Given the description of an element on the screen output the (x, y) to click on. 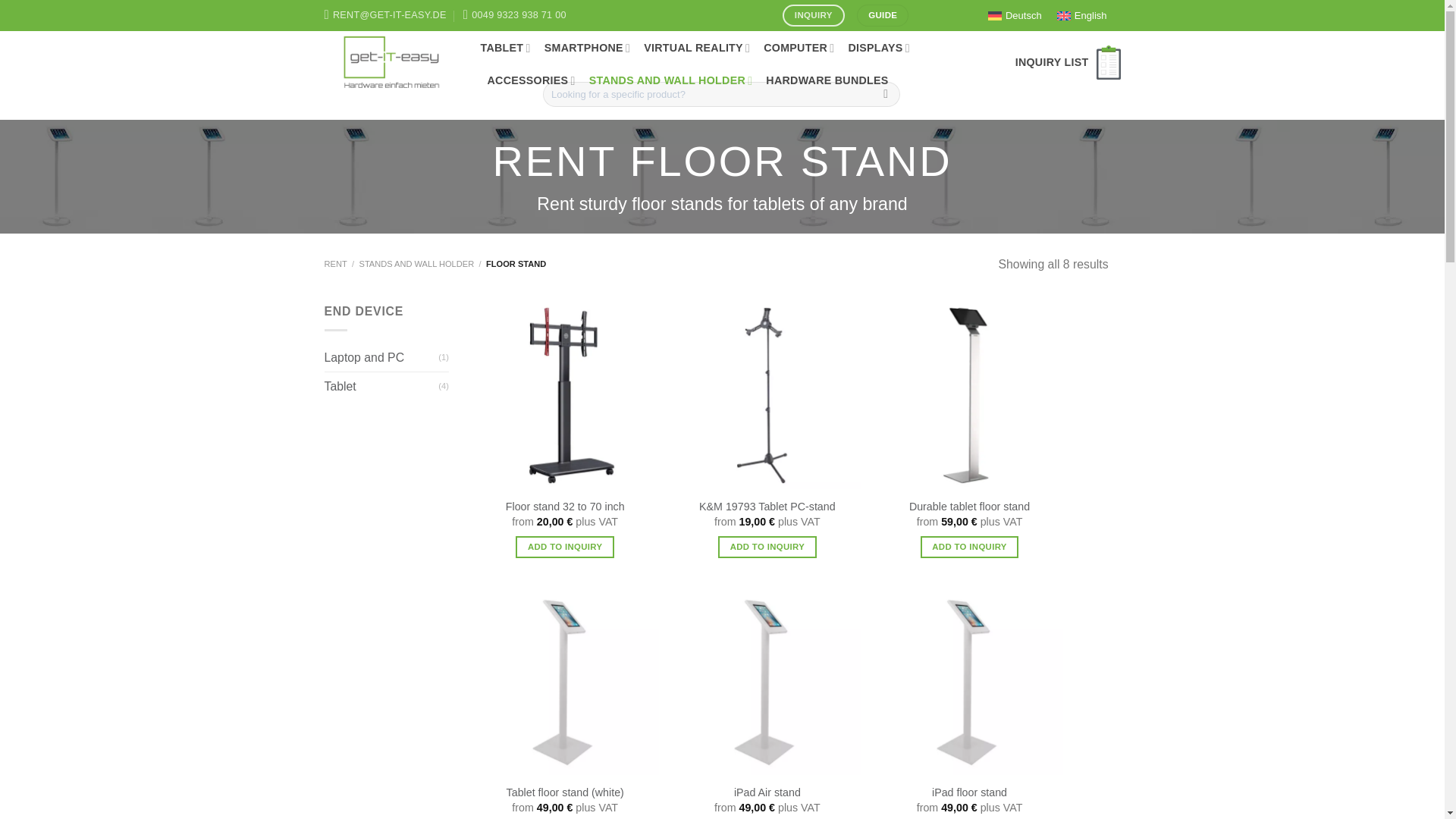
INQUIRY (813, 15)
TABLET (505, 47)
Inquiry list (1067, 62)
SMARTPHONE (587, 47)
GUIDE (882, 15)
VIRTUAL REALITY (696, 47)
Deutsch (1014, 15)
0049 9323 938 71 00 (514, 15)
English (1082, 15)
0049 9323 938 71 00 (514, 15)
